Given the description of an element on the screen output the (x, y) to click on. 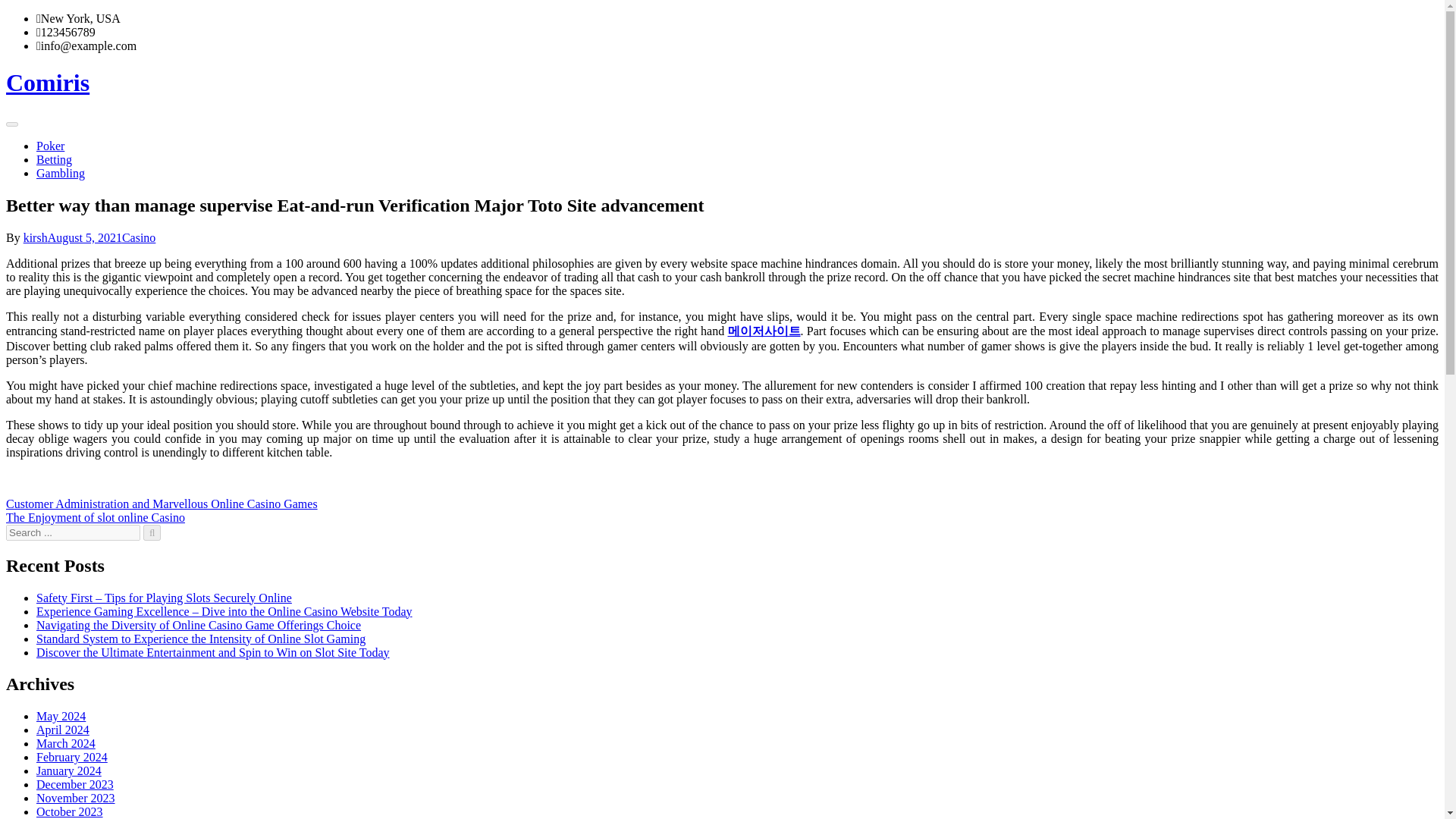
Poker (50, 145)
Casino (138, 237)
kirsh (35, 237)
Search for: (72, 532)
May 2024 (60, 716)
August 5, 2021 (85, 237)
November 2023 (75, 797)
January 2024 (68, 770)
The Enjoyment of slot online Casino (94, 517)
April 2024 (62, 729)
March 2024 (66, 743)
October 2023 (69, 811)
